Given the description of an element on the screen output the (x, y) to click on. 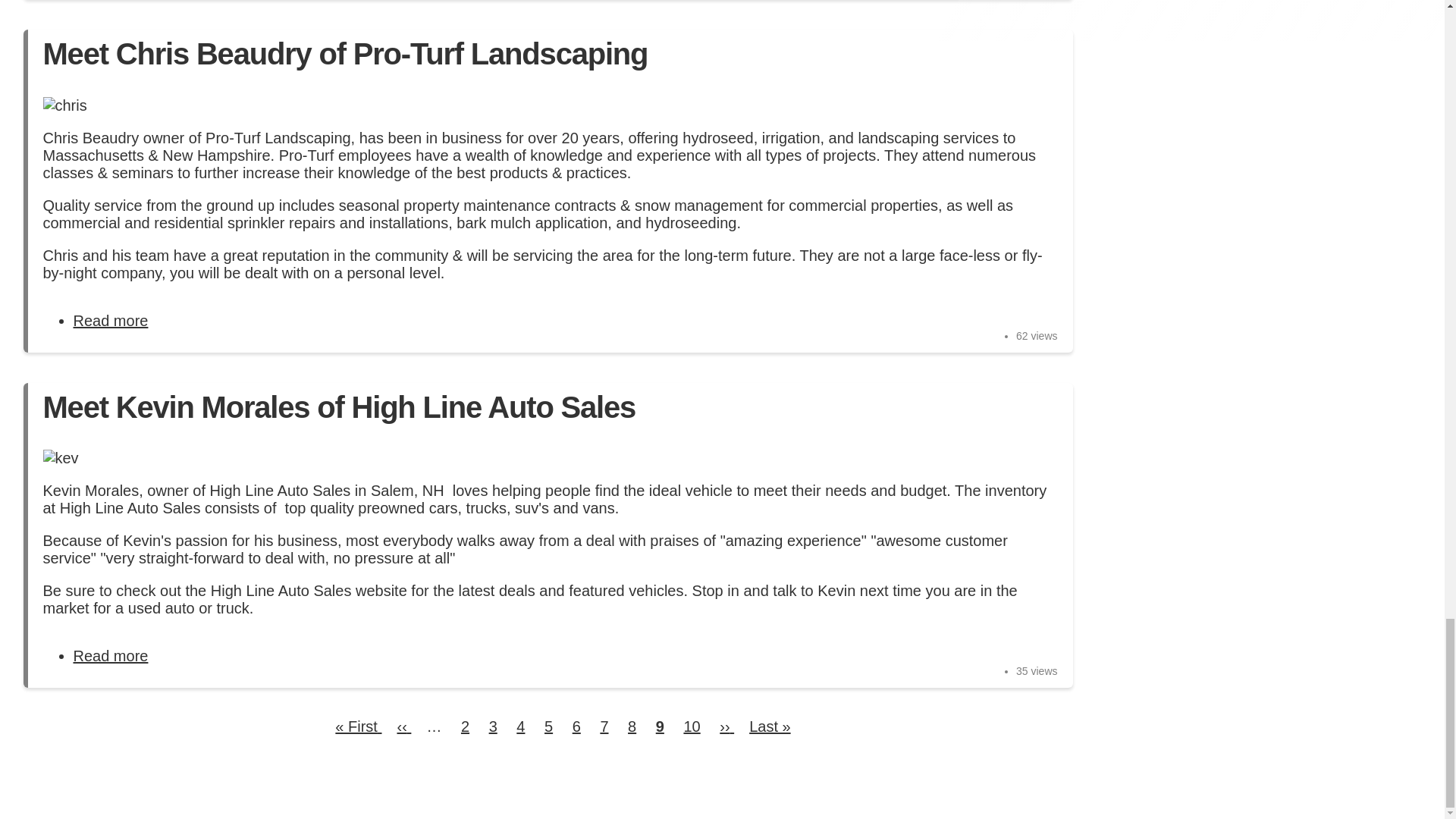
Meet Chris Beaudry of Pro-Turf Landscaping  (110, 320)
Go to first page (357, 726)
Meet Chris Beaudry of Pro-Turf Landscaping (344, 53)
Meet Kevin Morales of High Line Auto Sales (110, 655)
kev (110, 320)
